Given the description of an element on the screen output the (x, y) to click on. 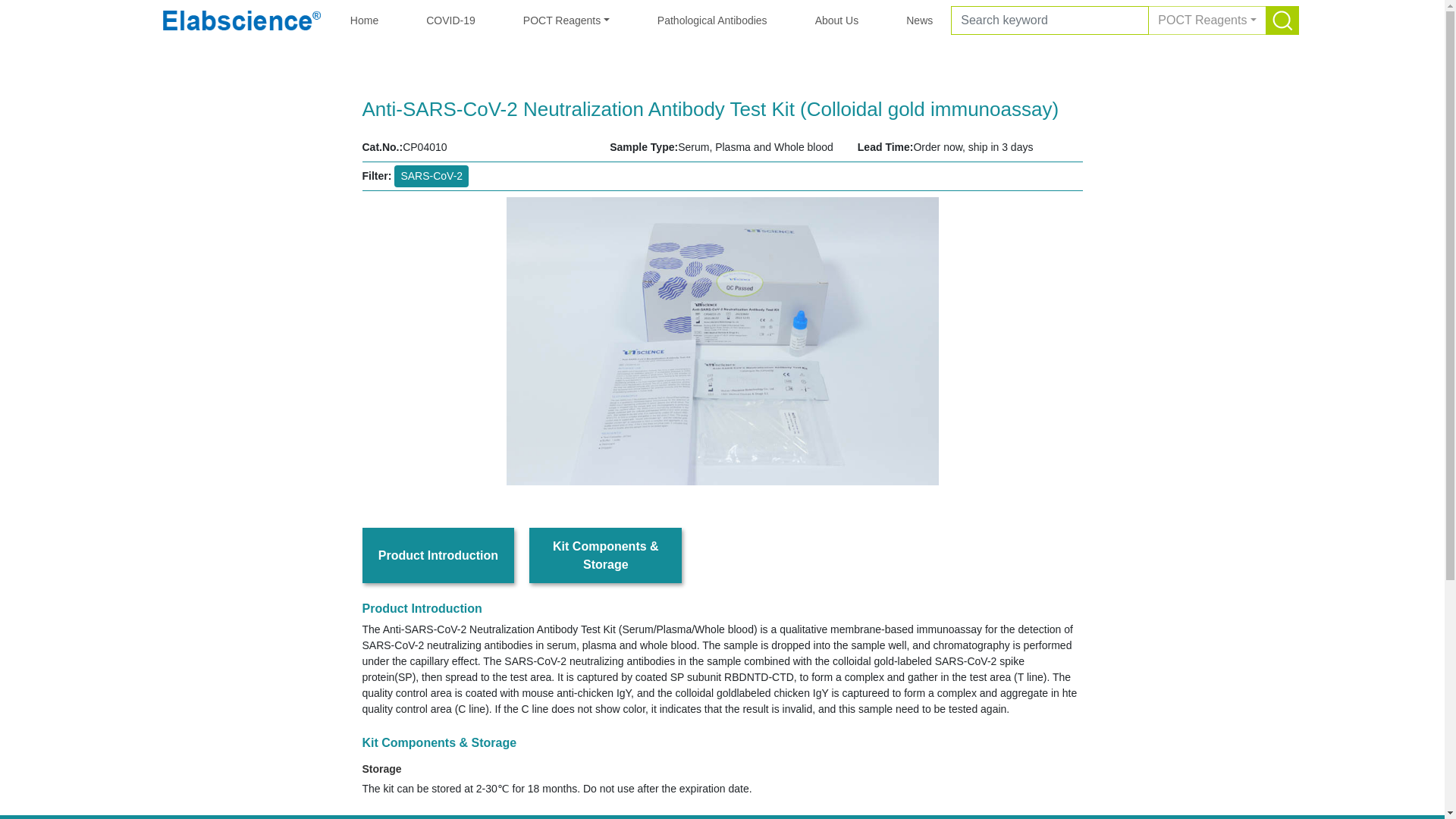
Product Introduction (438, 555)
Next (1028, 341)
Pathological Antibodies (711, 19)
Home (363, 19)
News (919, 19)
POCT Reagents (565, 19)
COVID-19 (450, 19)
About Us (836, 19)
Previous (416, 341)
POCT Reagents (1206, 20)
